Given the description of an element on the screen output the (x, y) to click on. 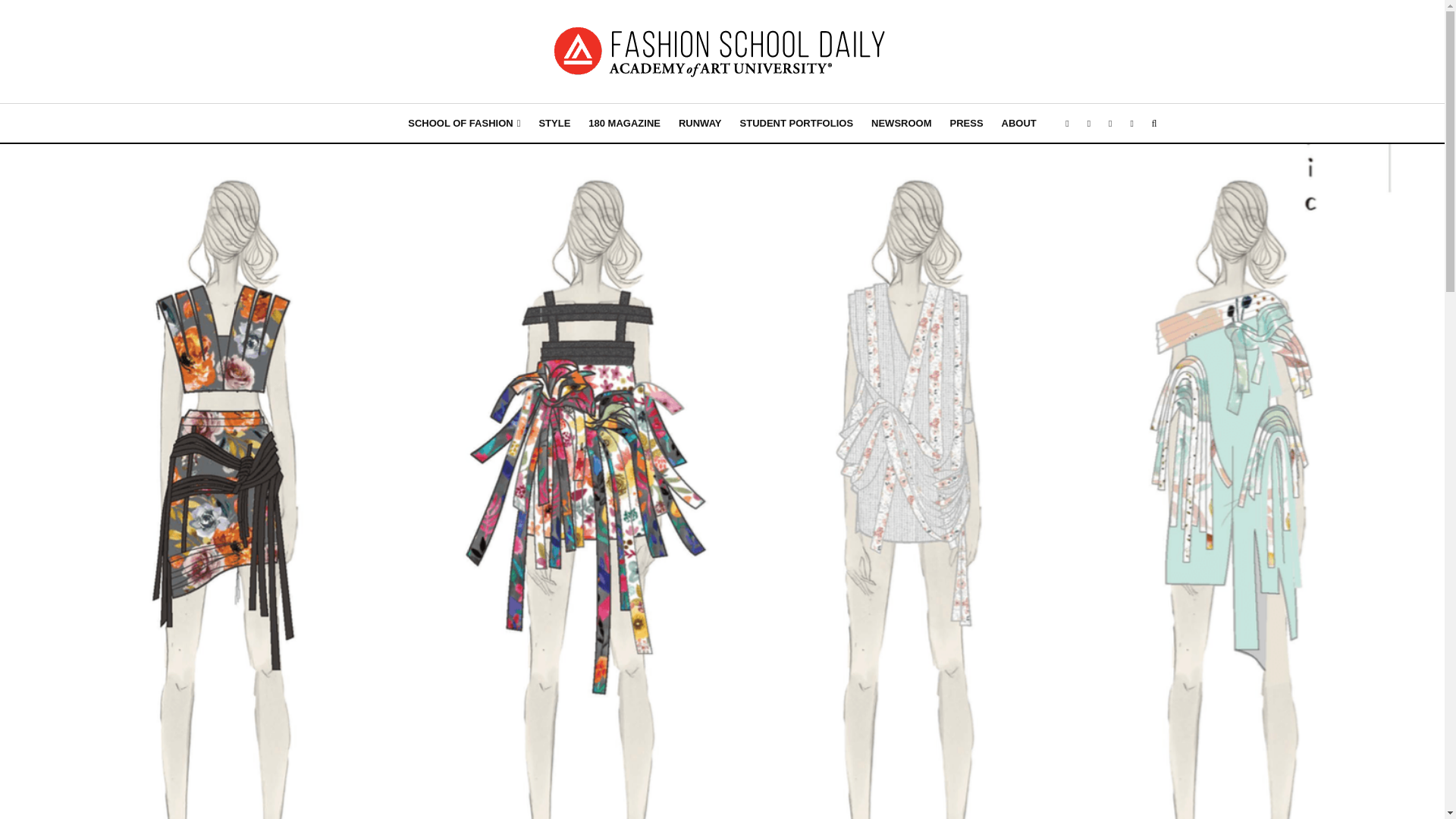
SCHOOL OF FASHION (463, 123)
180 MAGAZINE (624, 123)
STYLE (554, 123)
RUNWAY (699, 123)
STUDENT PORTFOLIOS (796, 123)
